Given the description of an element on the screen output the (x, y) to click on. 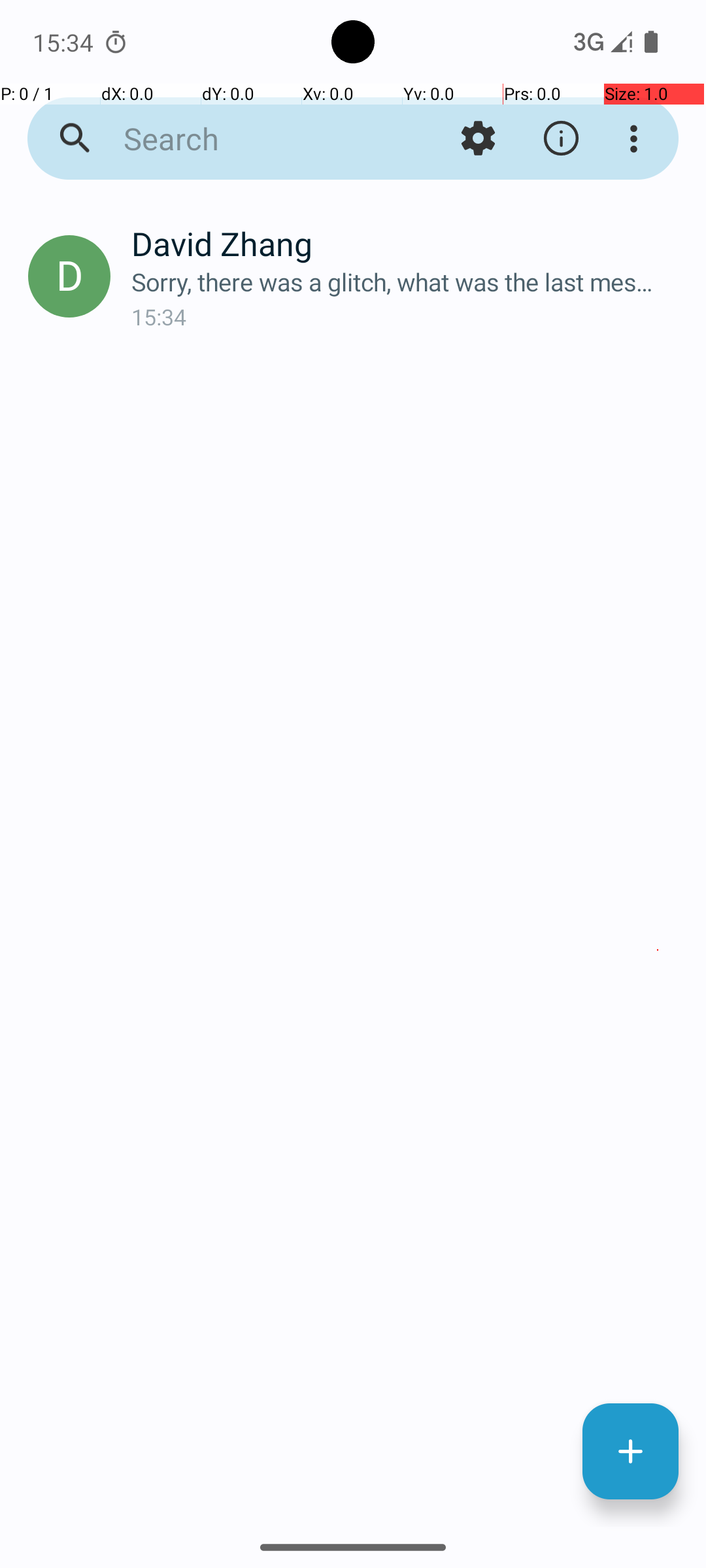
David Zhang Element type: android.widget.TextView (408, 242)
